Given the description of an element on the screen output the (x, y) to click on. 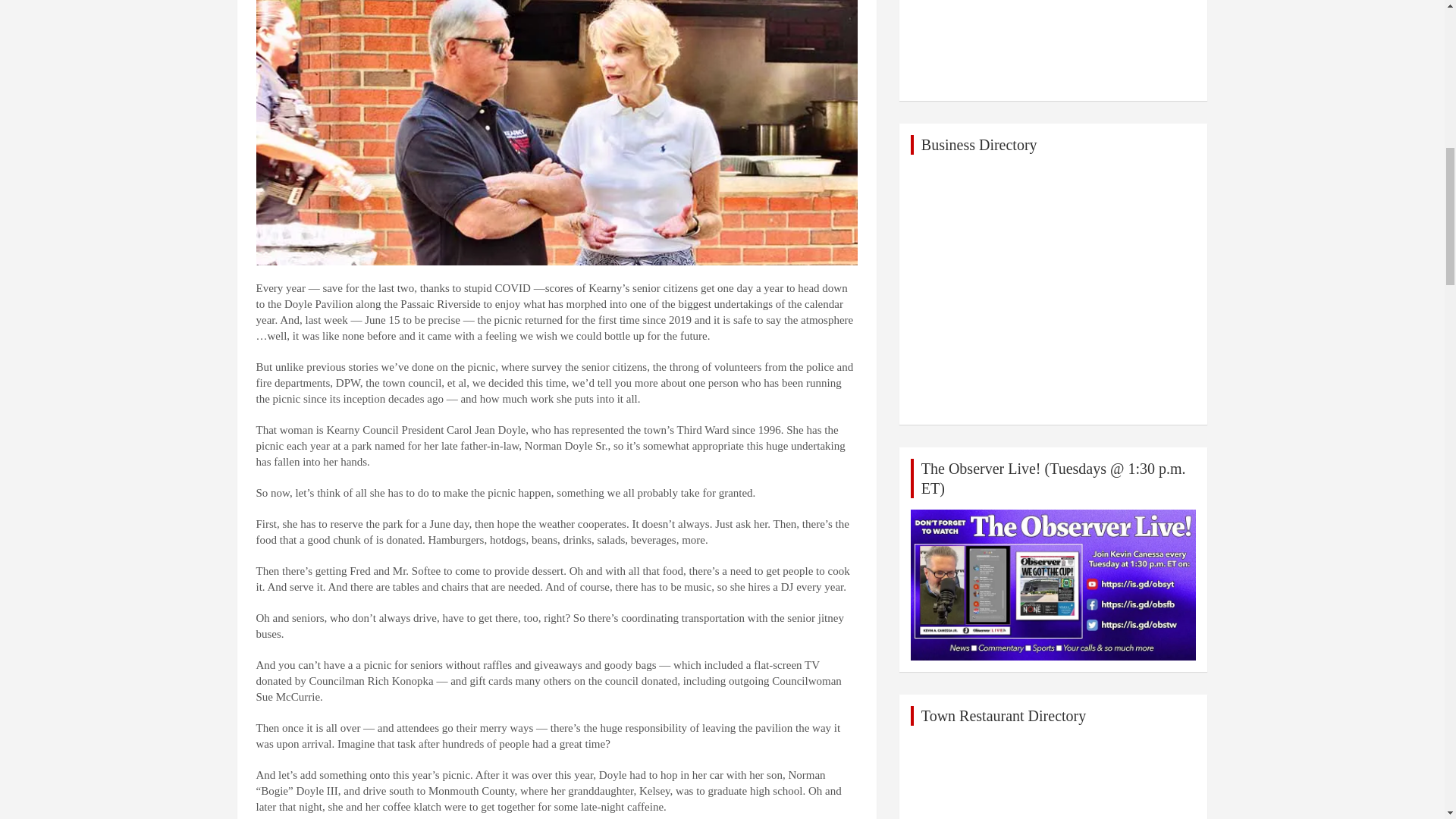
The Observer Live! (1053, 584)
